Given the description of an element on the screen output the (x, y) to click on. 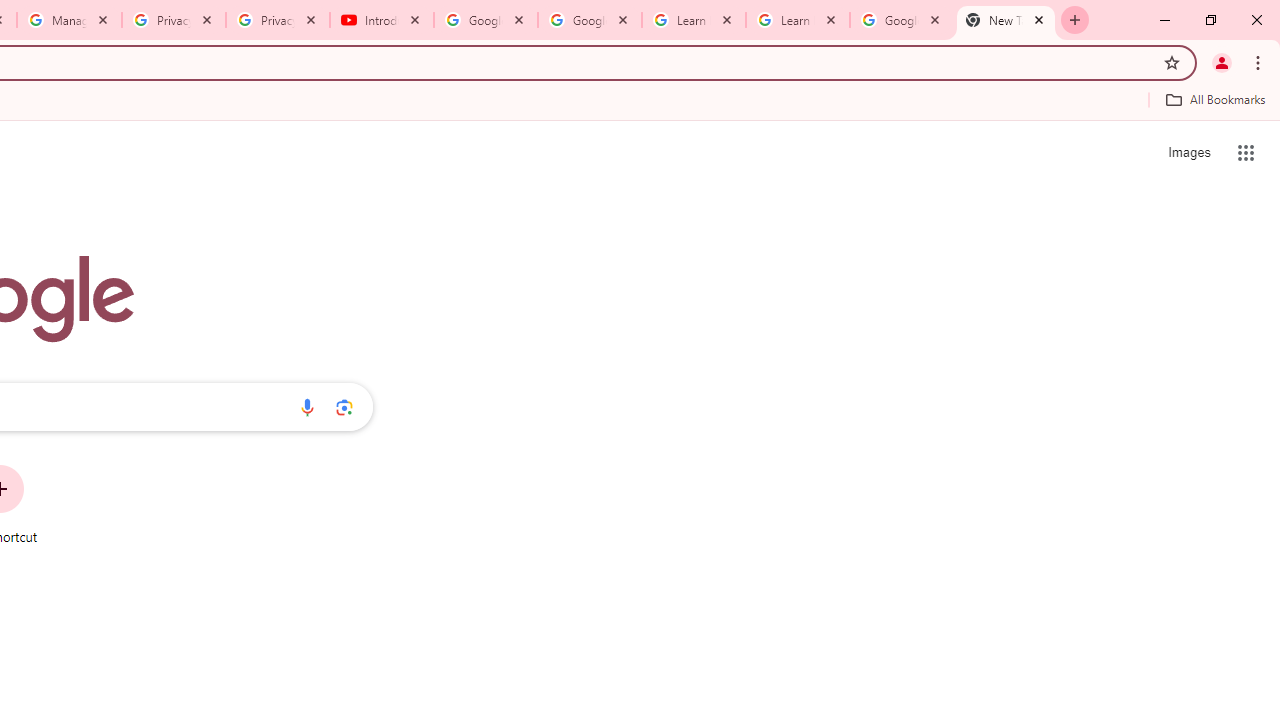
Google Account Help (485, 20)
New Tab (1005, 20)
